Given the description of an element on the screen output the (x, y) to click on. 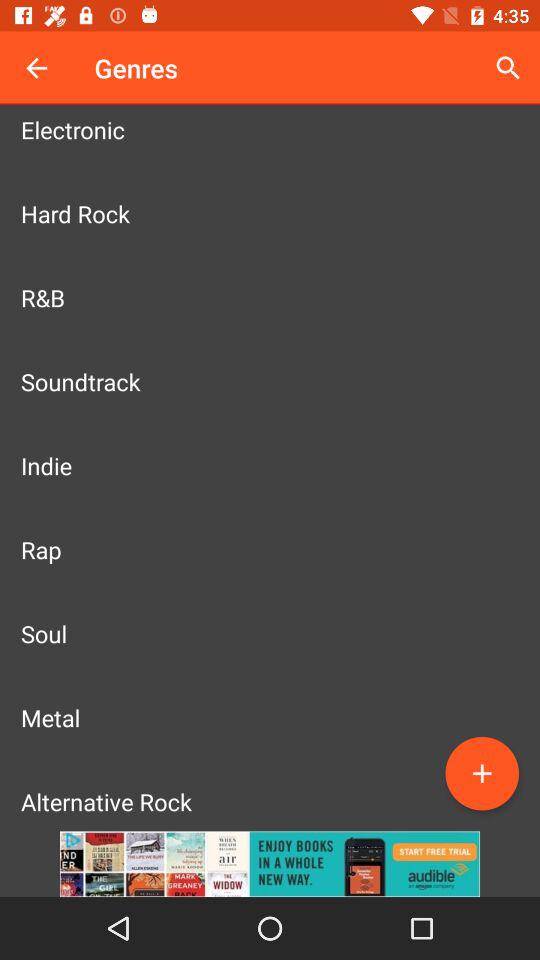
go back (36, 68)
